Given the description of an element on the screen output the (x, y) to click on. 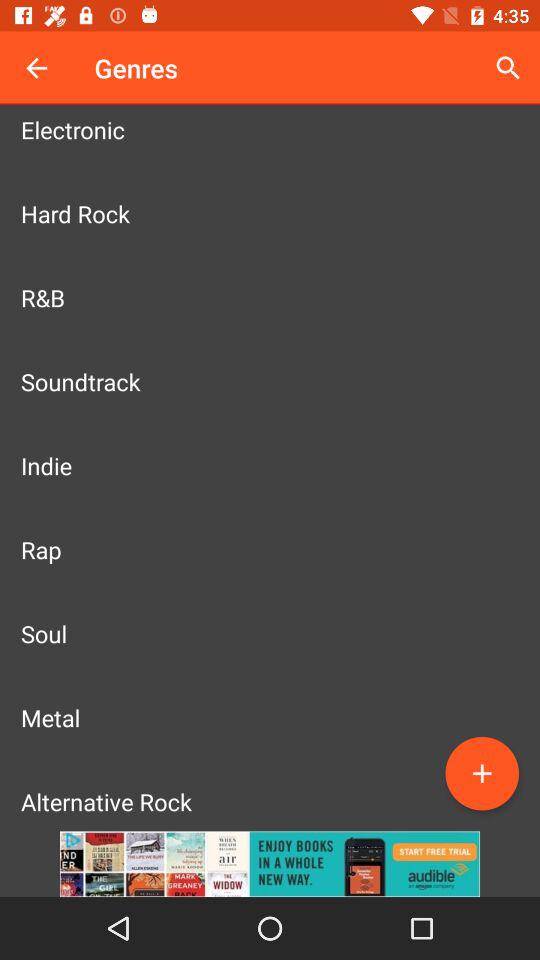
go back (36, 68)
